Given the description of an element on the screen output the (x, y) to click on. 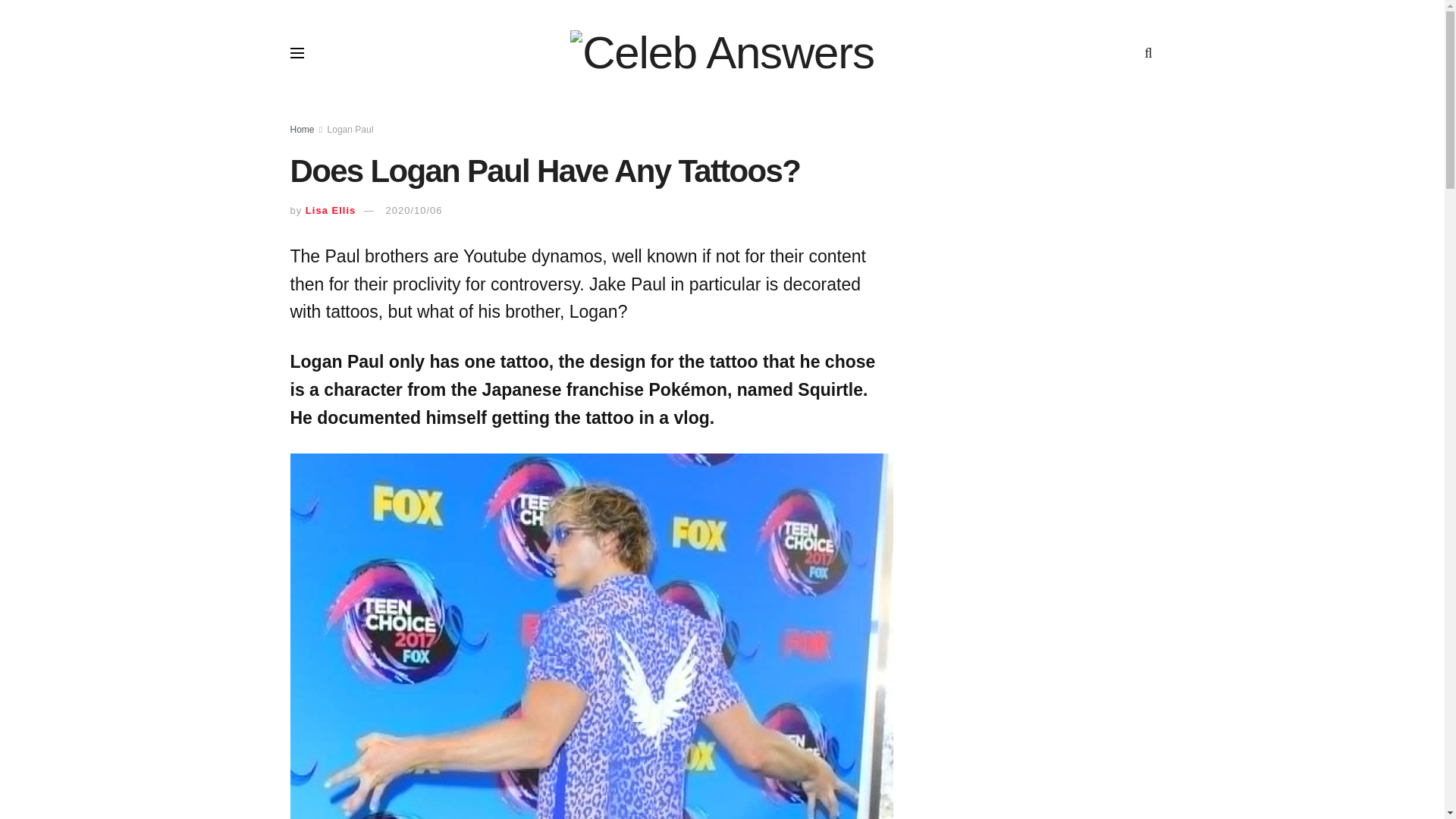
Home (301, 129)
Lisa Ellis (330, 210)
Logan Paul (350, 129)
